Given the description of an element on the screen output the (x, y) to click on. 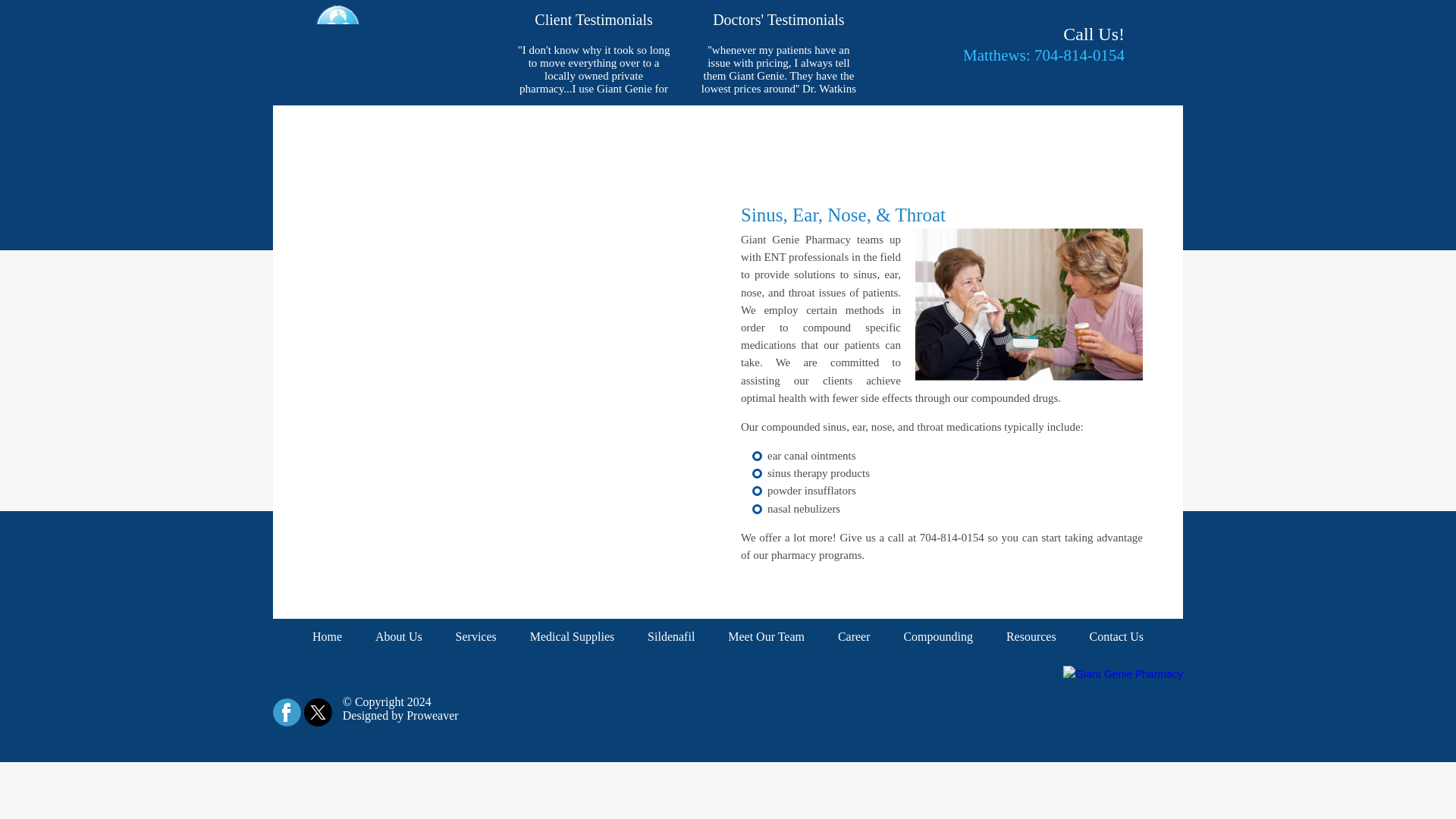
About Us (398, 636)
Meet Our Team (766, 636)
Sildenafil (670, 125)
Resources (1031, 636)
Services (475, 125)
Compounding (938, 125)
Compounding (938, 636)
Home (326, 125)
Resources (1031, 125)
Career (853, 125)
Sildenafil (670, 636)
Medical Supplies (572, 636)
Home (326, 636)
About Us (398, 125)
Meet Our Team (766, 125)
